Given the description of an element on the screen output the (x, y) to click on. 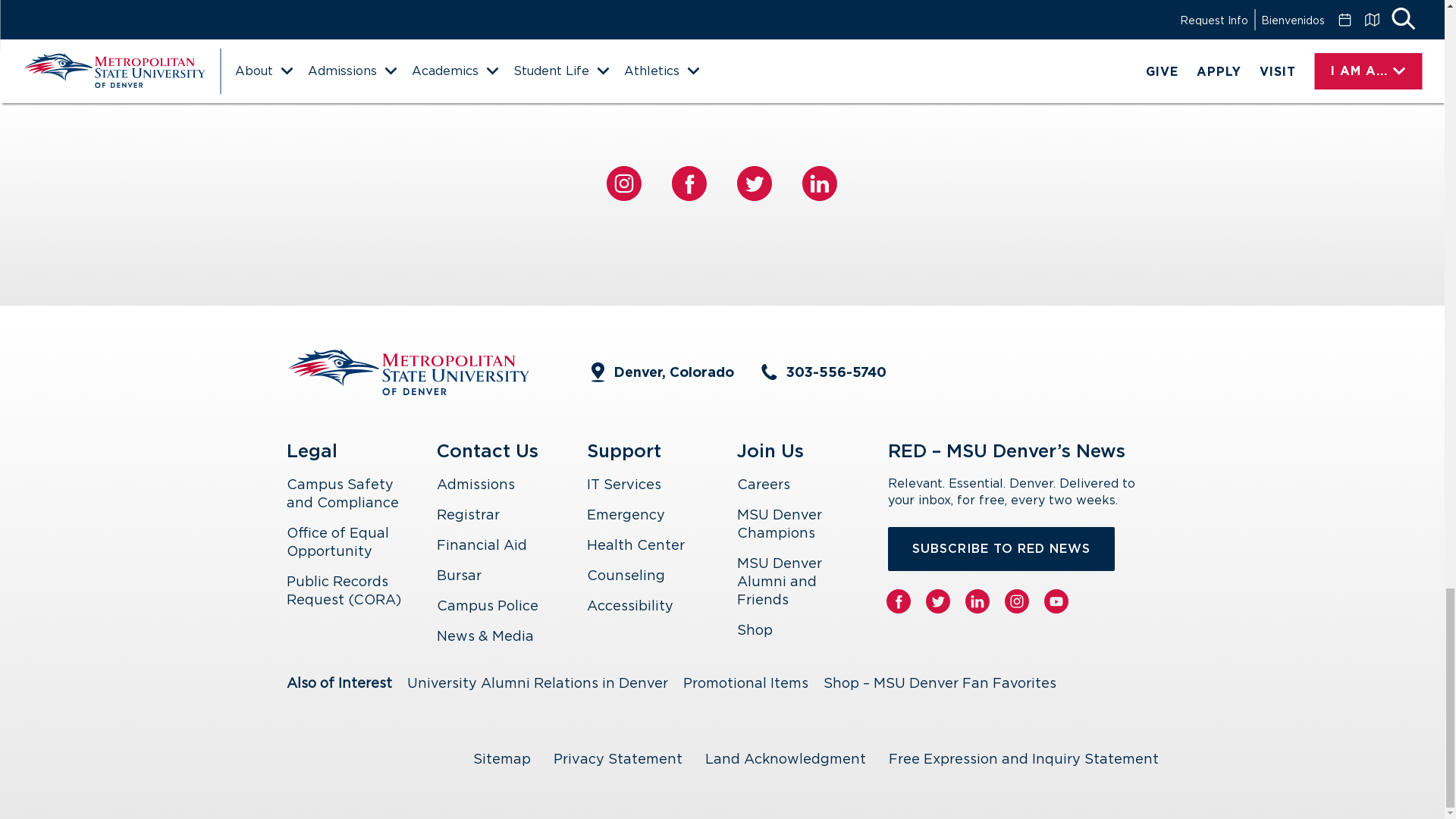
Twitter (753, 183)
LinkedIn (819, 183)
Instagram (624, 183)
Facebook (688, 183)
